Given the description of an element on the screen output the (x, y) to click on. 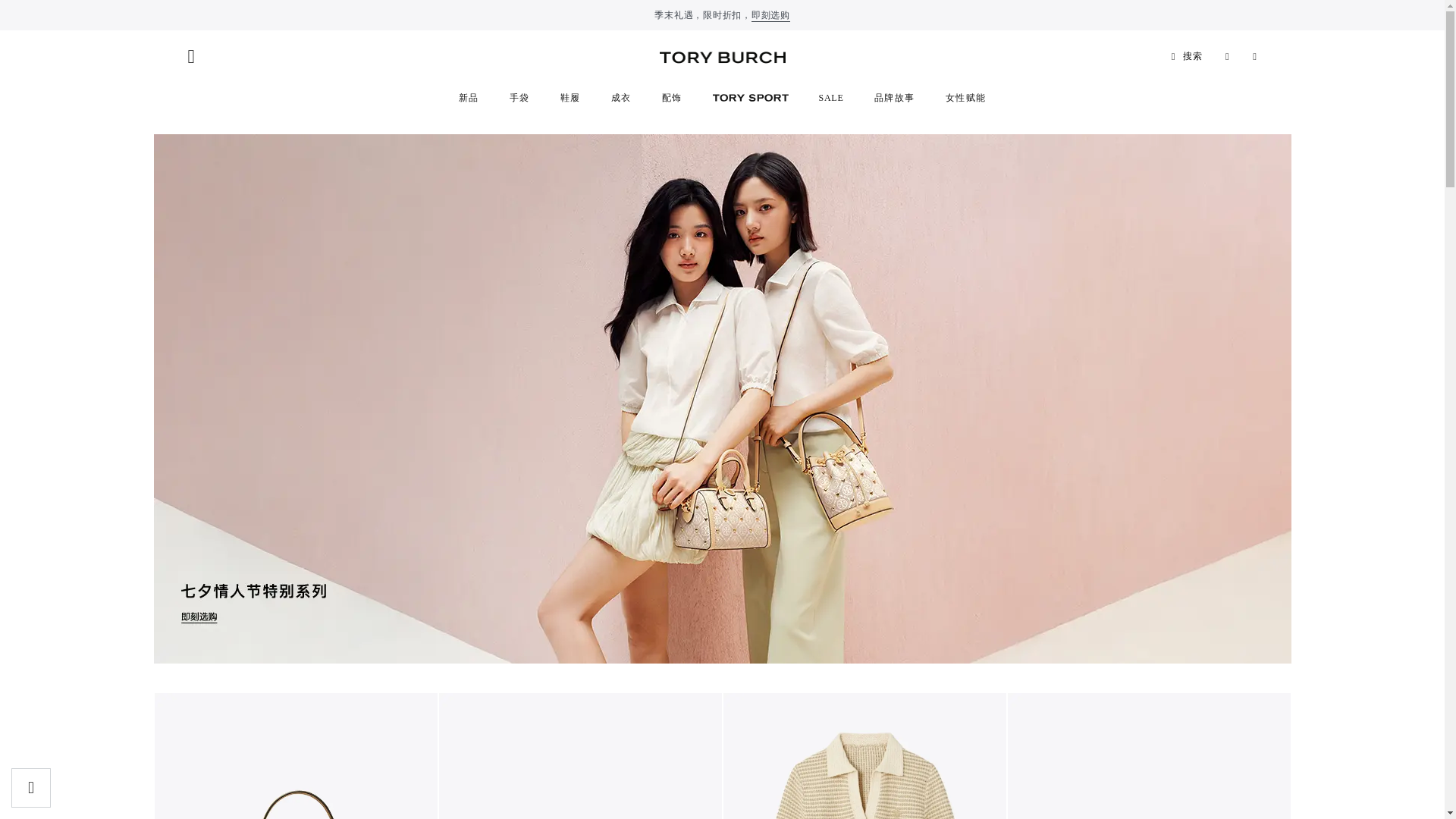
SALE (831, 97)
